Given the description of an element on the screen output the (x, y) to click on. 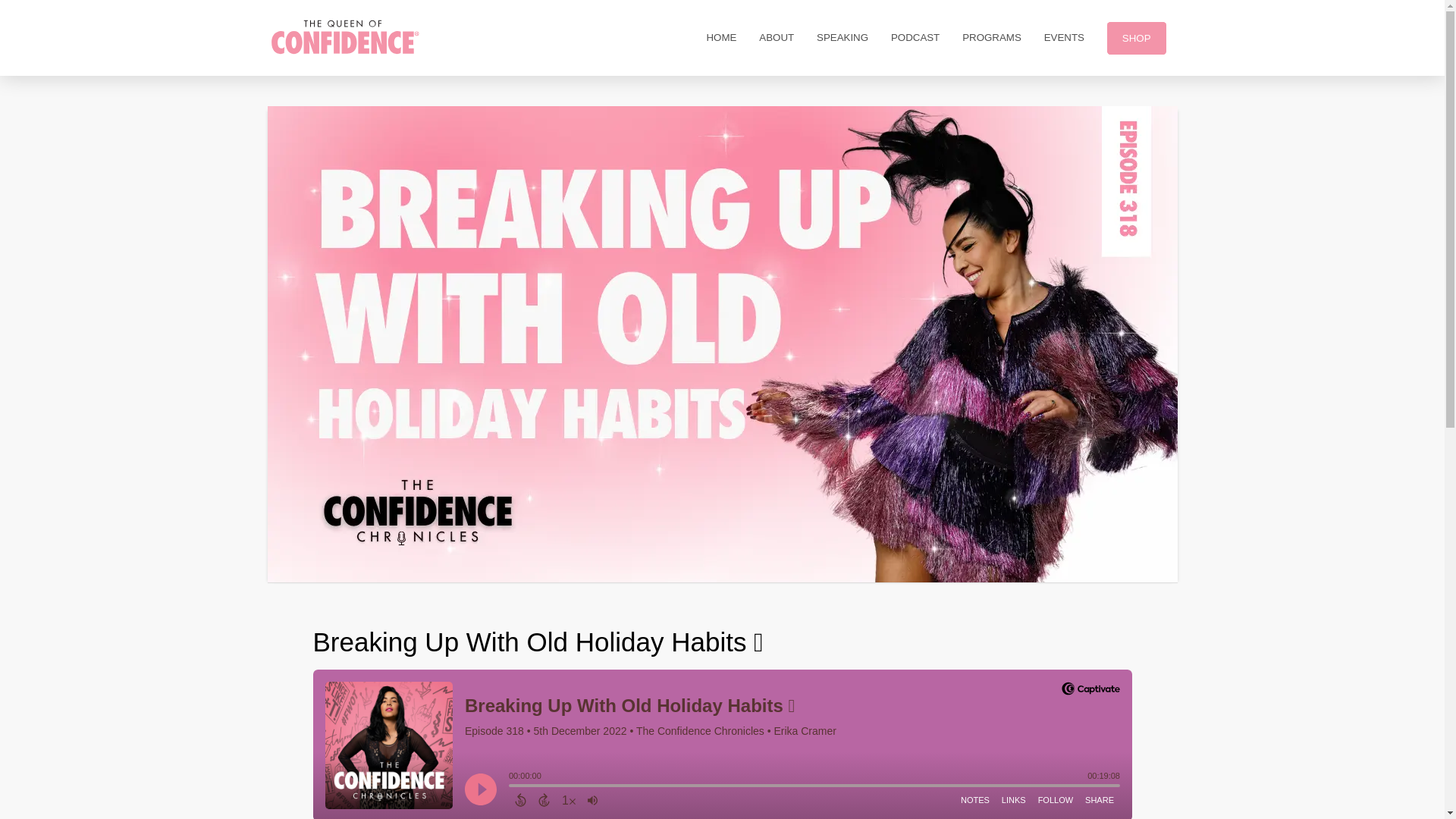
SHOP (1136, 38)
PODCAST (914, 38)
SPEAKING (842, 38)
PROGRAMS (991, 38)
